Given the description of an element on the screen output the (x, y) to click on. 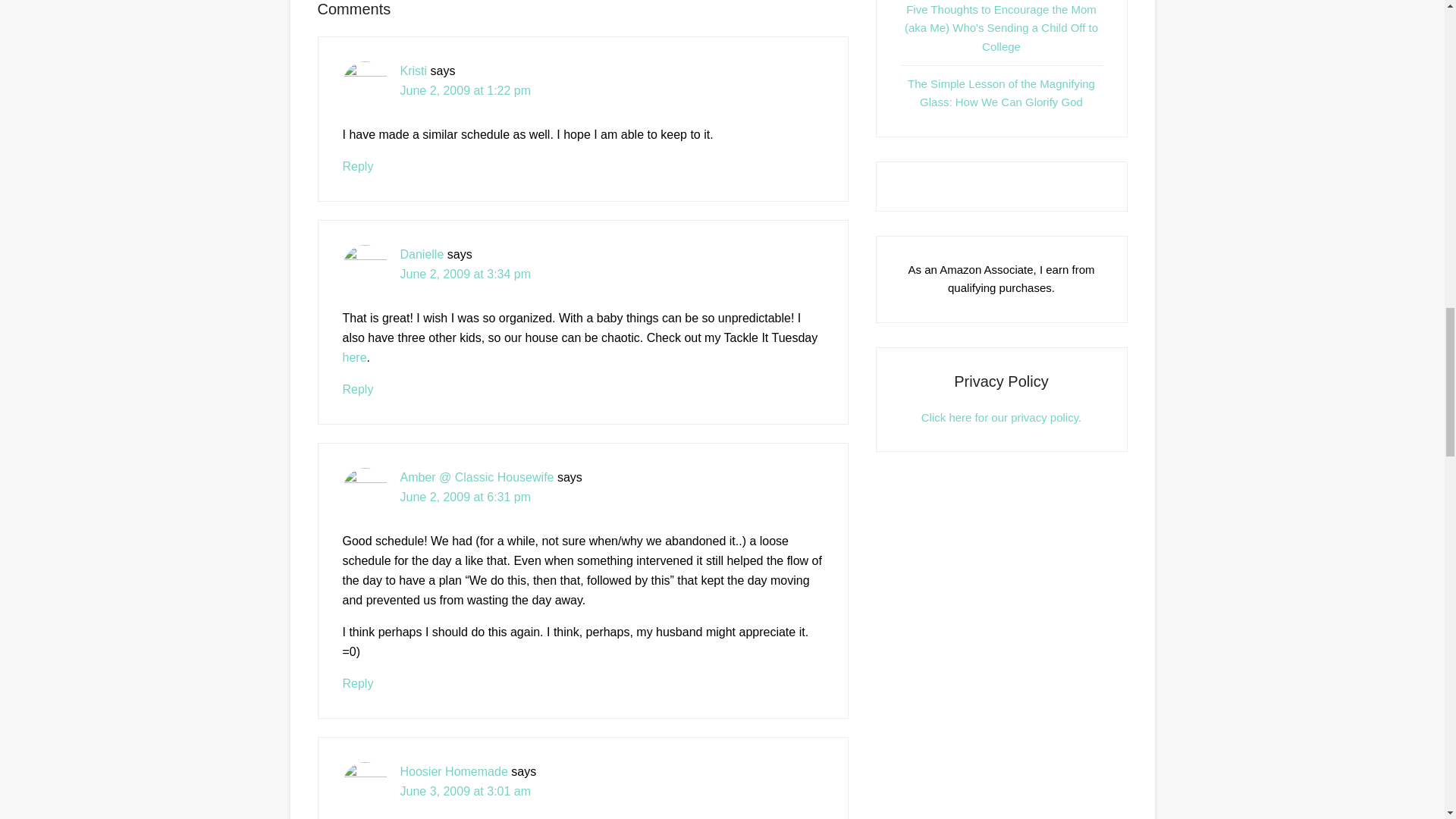
June 3, 2009 at 3:01 am (465, 790)
Reply (358, 683)
Reply (358, 165)
Kristi (414, 70)
Danielle (422, 254)
June 2, 2009 at 6:31 pm (465, 496)
June 2, 2009 at 1:22 pm (465, 90)
June 2, 2009 at 3:34 pm (465, 273)
Hoosier Homemade (454, 771)
Reply (358, 389)
here (354, 357)
